Given the description of an element on the screen output the (x, y) to click on. 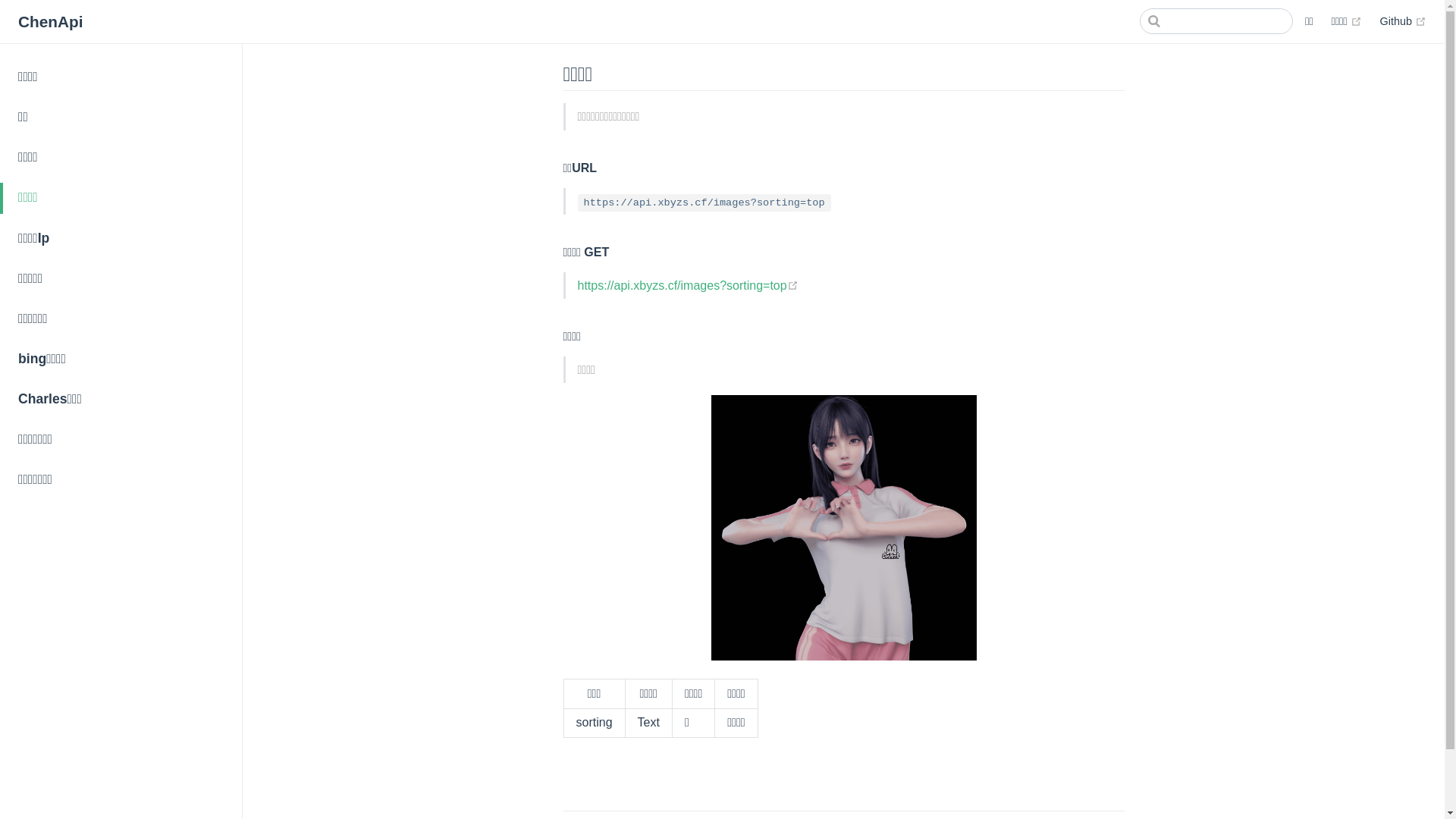
Github
(opens new window) Element type: text (1403, 20)
ChenApi Element type: text (50, 22)
https://api.xbyzs.cf/images?sorting=top
(opens new window) Element type: text (687, 285)
